Given the description of an element on the screen output the (x, y) to click on. 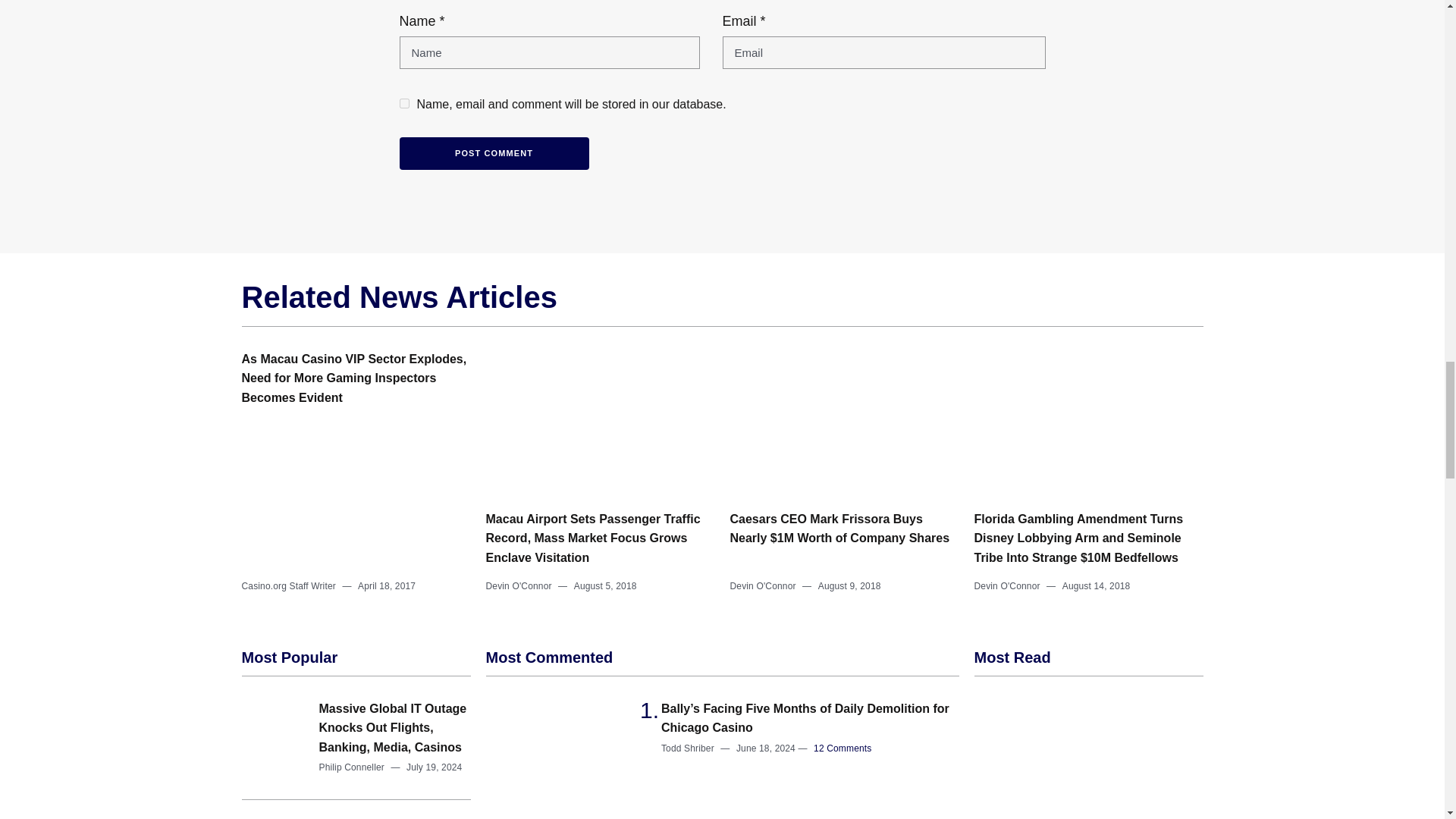
yes (403, 103)
Post Comment (493, 153)
